Given the description of an element on the screen output the (x, y) to click on. 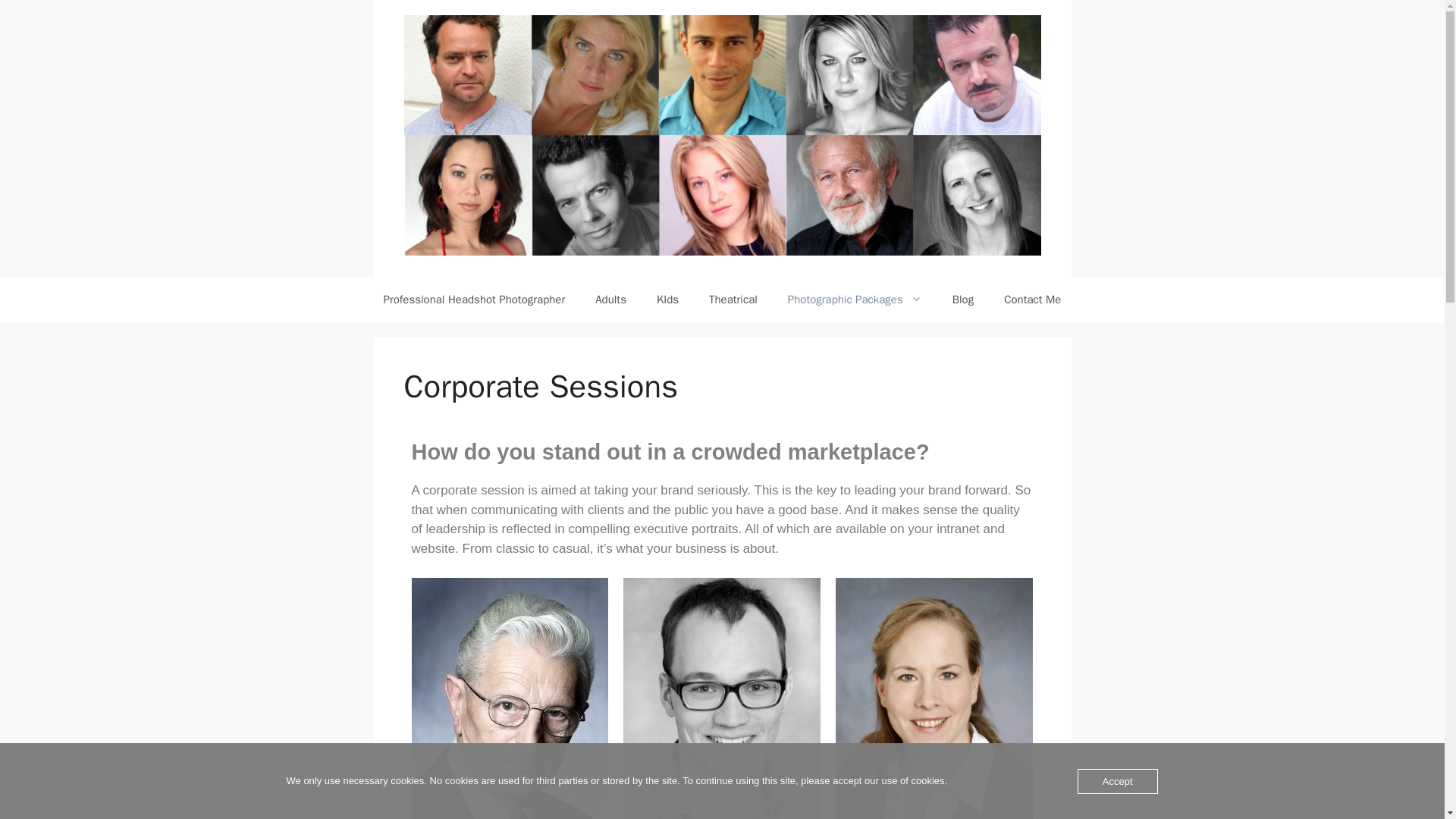
Blog (962, 299)
Theatrical (733, 299)
Professional Headshot Photographer (474, 299)
Photographic Packages (855, 299)
Accept (1117, 781)
KIds (668, 299)
Contact Me (1031, 299)
Adults (610, 299)
